Given the description of an element on the screen output the (x, y) to click on. 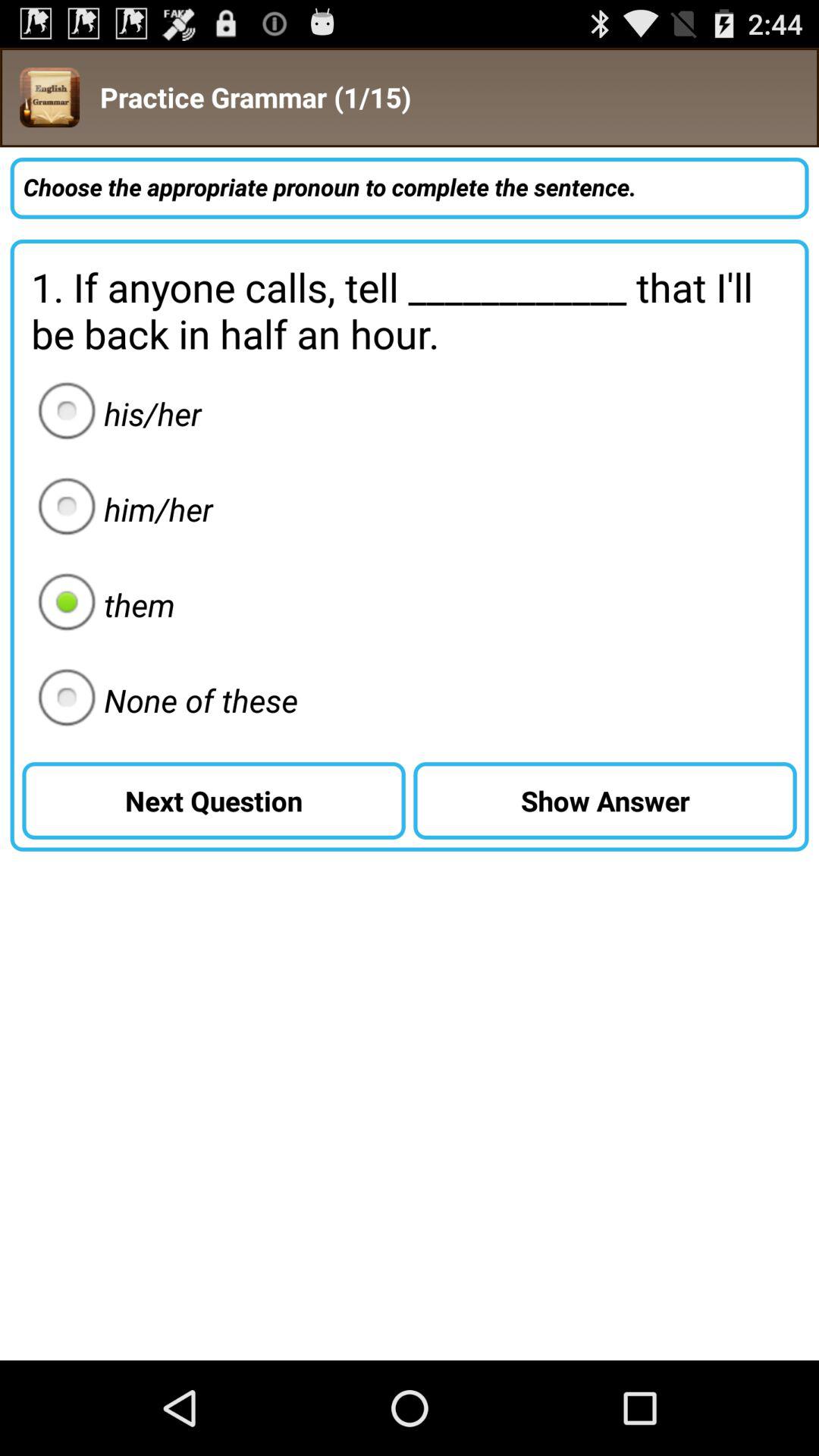
turn on the none of these icon (163, 699)
